Given the description of an element on the screen output the (x, y) to click on. 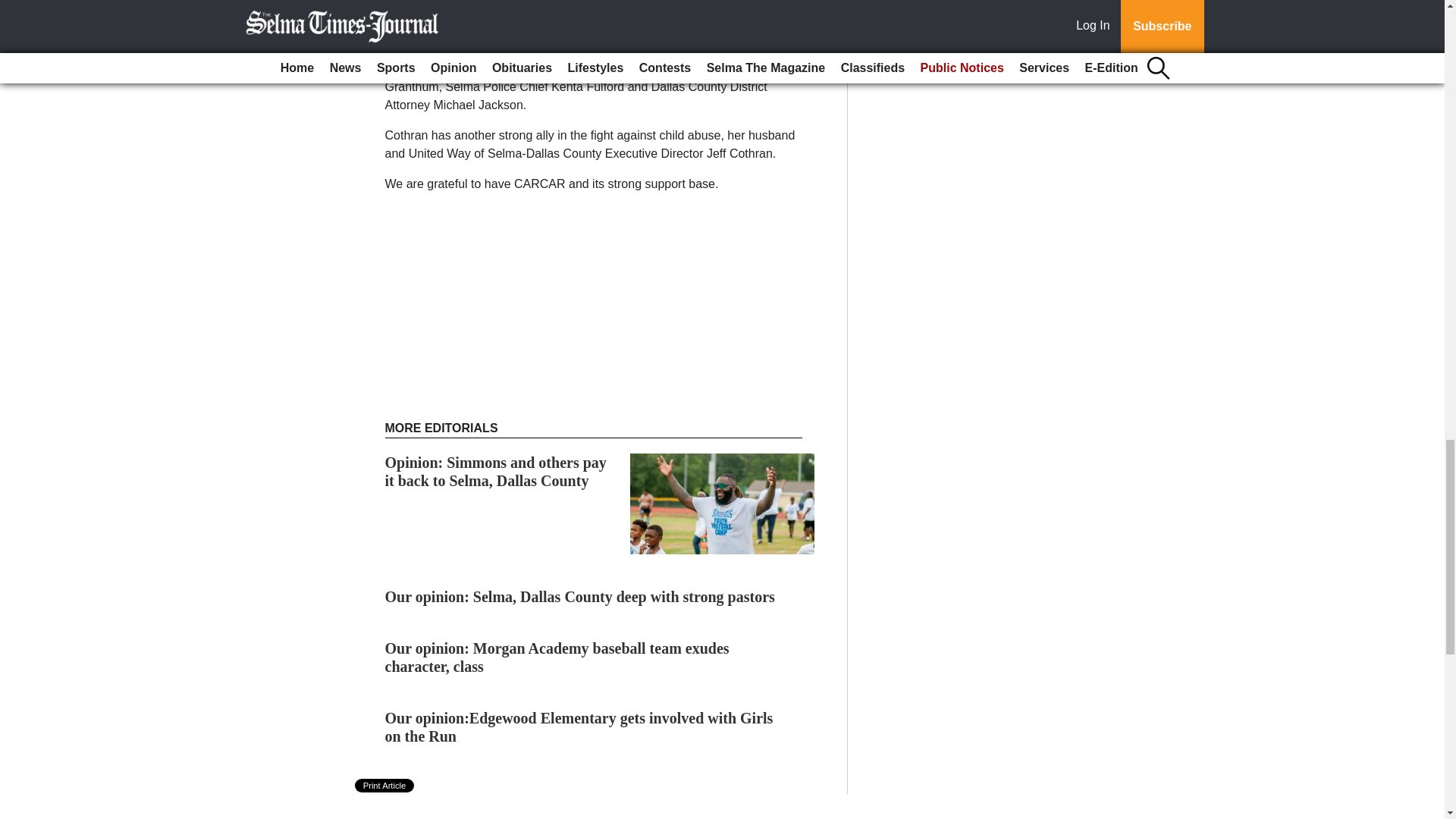
Our opinion: Selma, Dallas County deep with strong pastors (579, 596)
Print Article (384, 785)
Our opinion: Selma, Dallas County deep with strong pastors (579, 596)
